Given the description of an element on the screen output the (x, y) to click on. 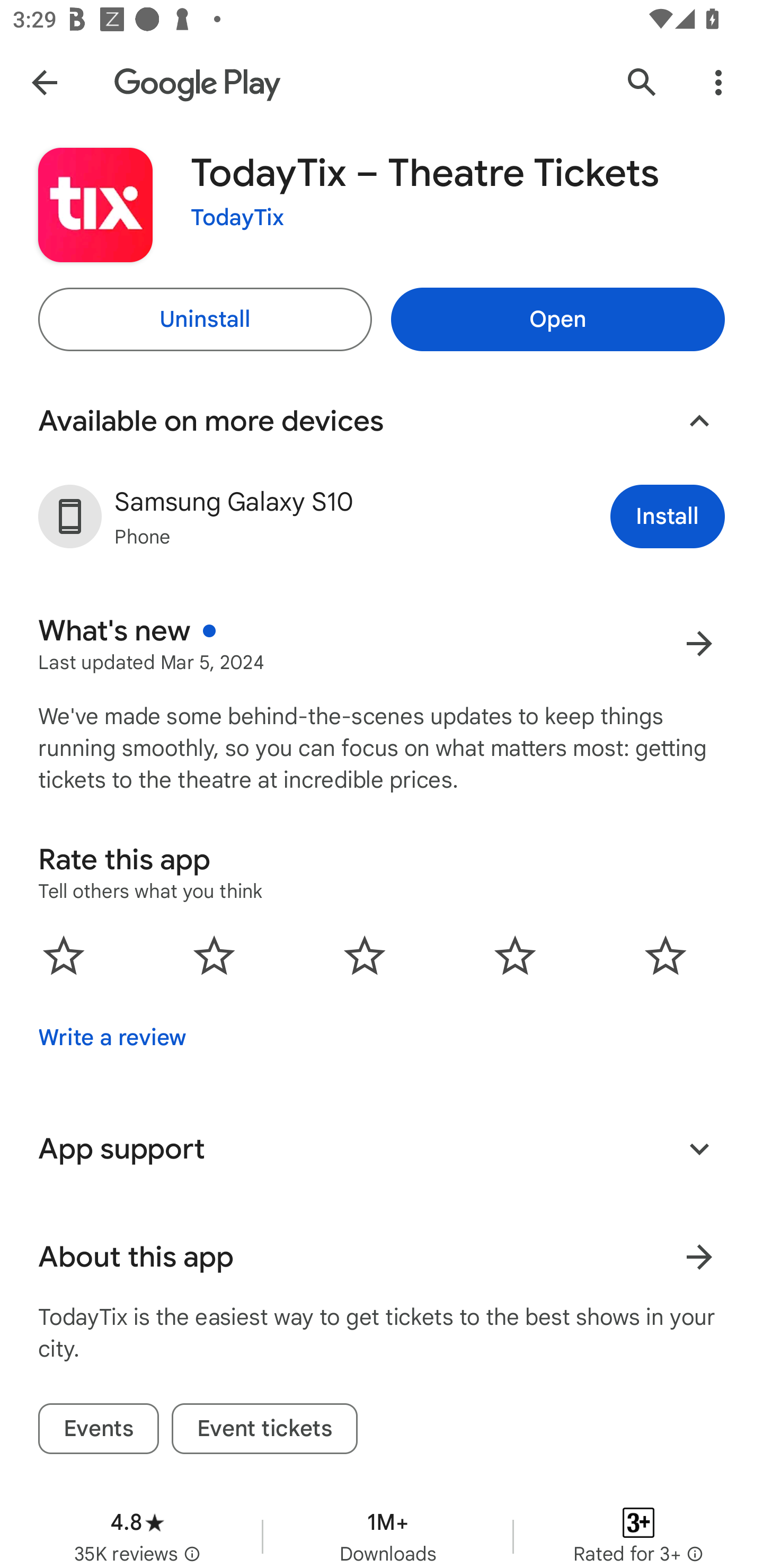
Navigate up (44, 81)
Search Google Play (642, 81)
More Options (718, 81)
TodayTix (237, 217)
Uninstall (205, 318)
Open (557, 318)
Available on more devices Collapse (381, 420)
Collapse (699, 420)
Install (667, 516)
More results for What's new (699, 643)
0.0 (364, 954)
Write a review (112, 1037)
App support Expand (381, 1148)
Expand (699, 1148)
About this app Learn more About this app (381, 1256)
Learn more About this app (699, 1256)
Events tag (98, 1428)
Event tickets tag (264, 1428)
Average rating 4.8 stars in 35 thousand reviews (137, 1527)
Content rating Rated for 3+ (638, 1527)
